Given the description of an element on the screen output the (x, y) to click on. 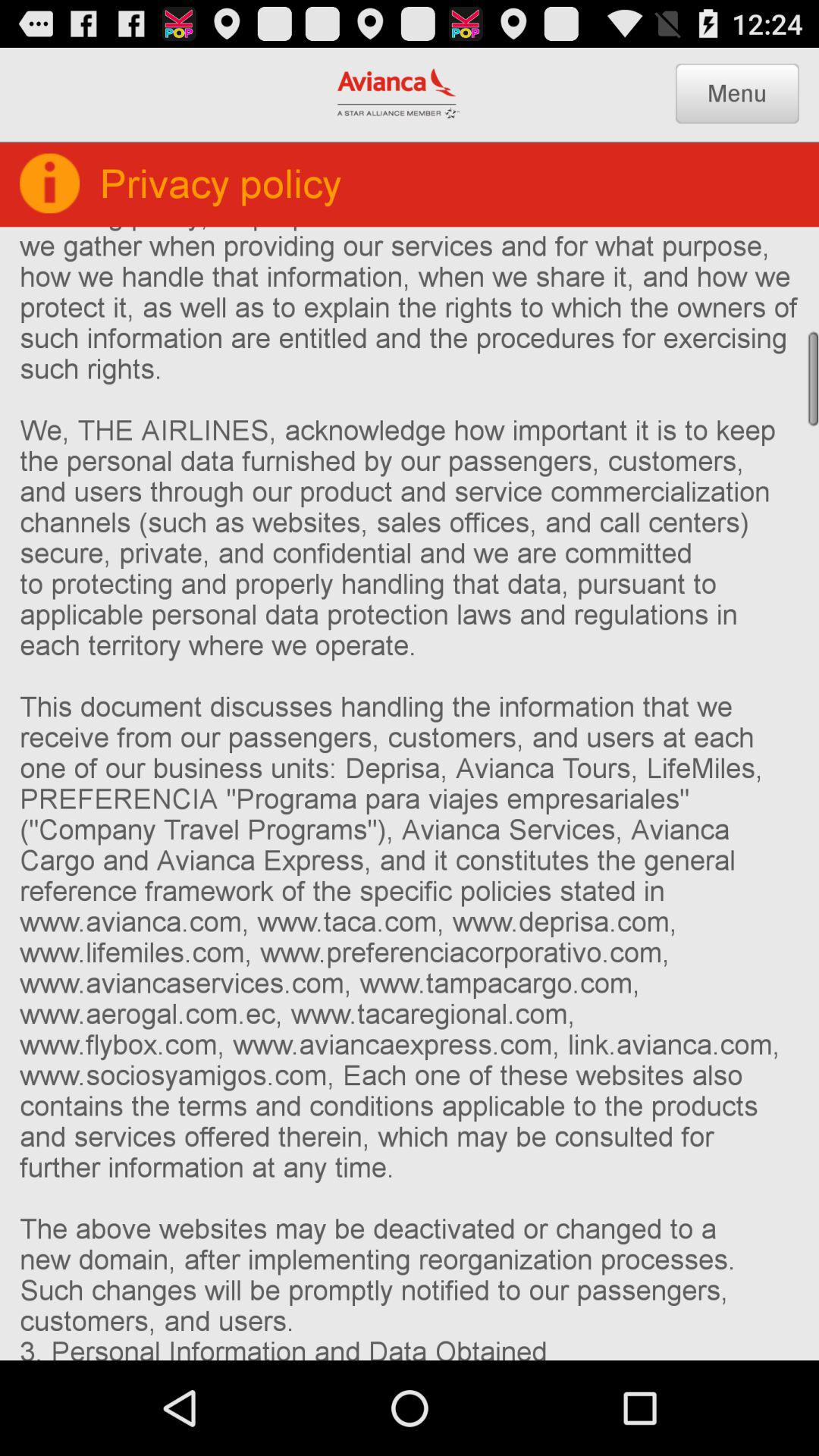
open 1 who we at the center (409, 793)
